Given the description of an element on the screen output the (x, y) to click on. 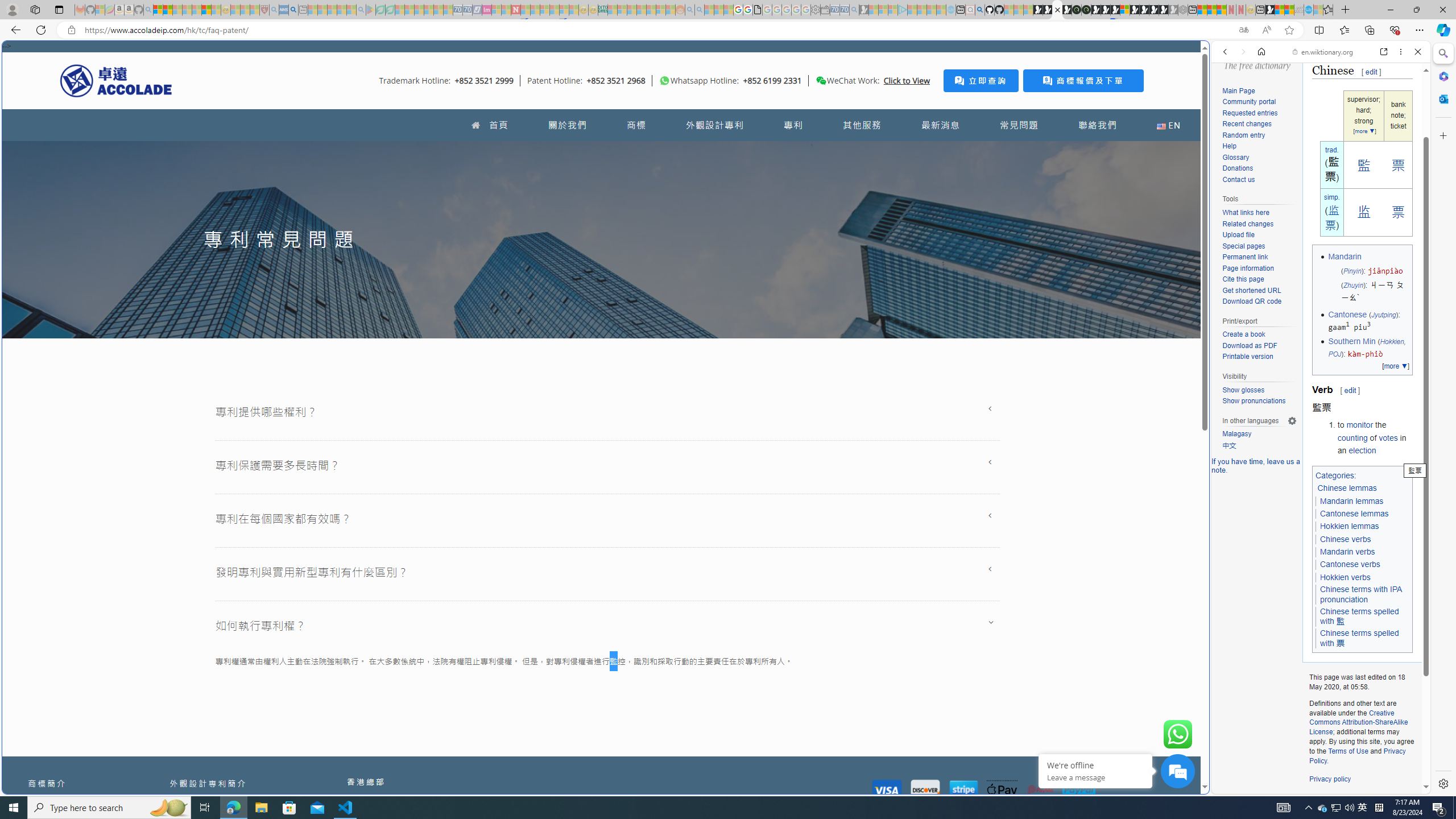
Page information (1247, 267)
Services - Maintenance | Sky Blue Bikes - Sky Blue Bikes (1307, 9)
Mandarin lemmas (1351, 501)
Mandarin verbs (1347, 552)
Printable version (1247, 356)
Upload file (1259, 235)
Special pages (1243, 245)
